Given the description of an element on the screen output the (x, y) to click on. 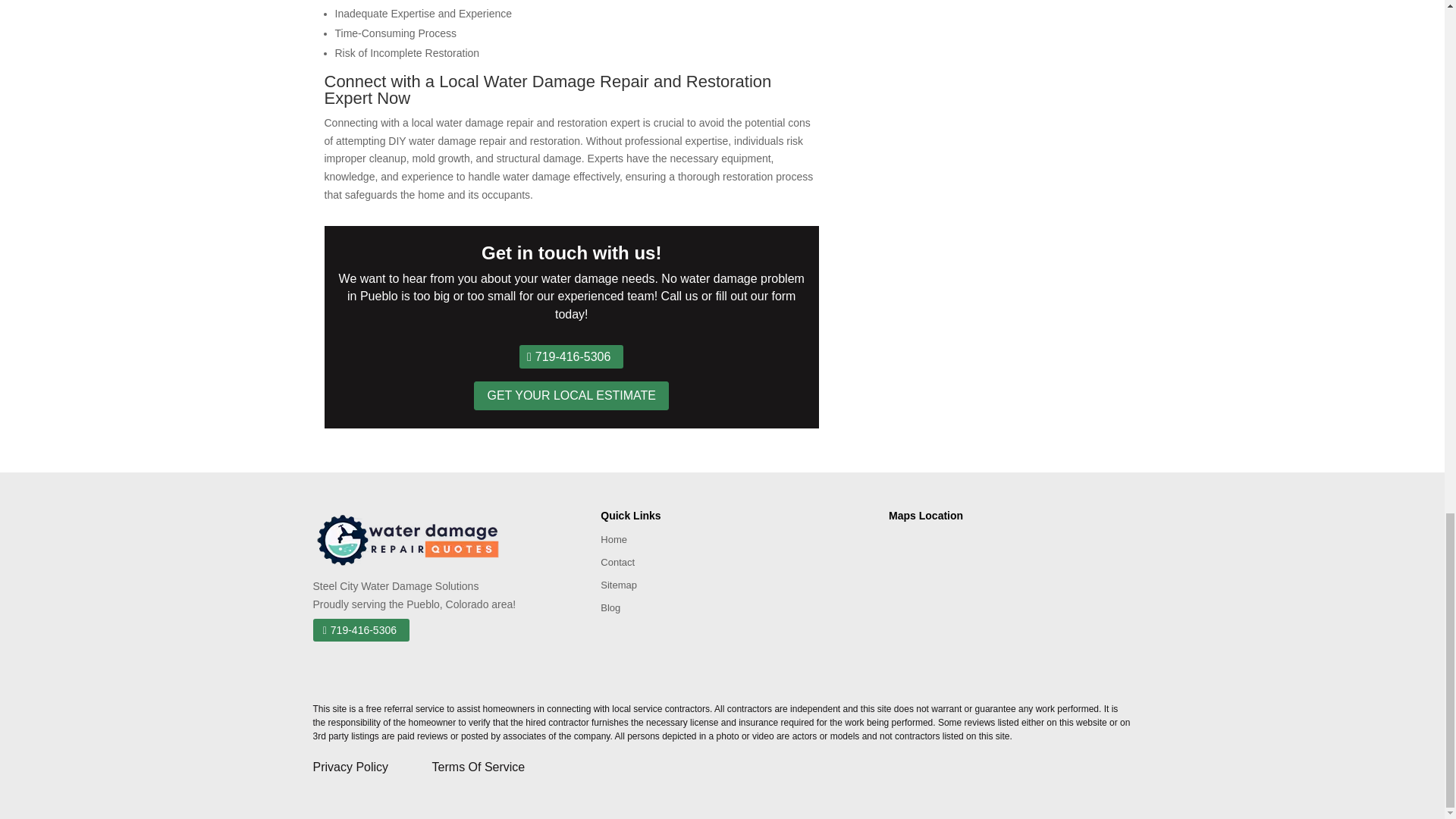
theme-builder-O5Ip7jbfxNyd1P2W (407, 540)
719-416-5306 (361, 630)
Privacy Policy              (371, 766)
Contact (616, 565)
Blog (609, 610)
GET YOUR LOCAL ESTIMATE (571, 396)
Sitemap (618, 588)
719-416-5306 (571, 356)
Terms Of Service (478, 766)
Home (613, 542)
